Given the description of an element on the screen output the (x, y) to click on. 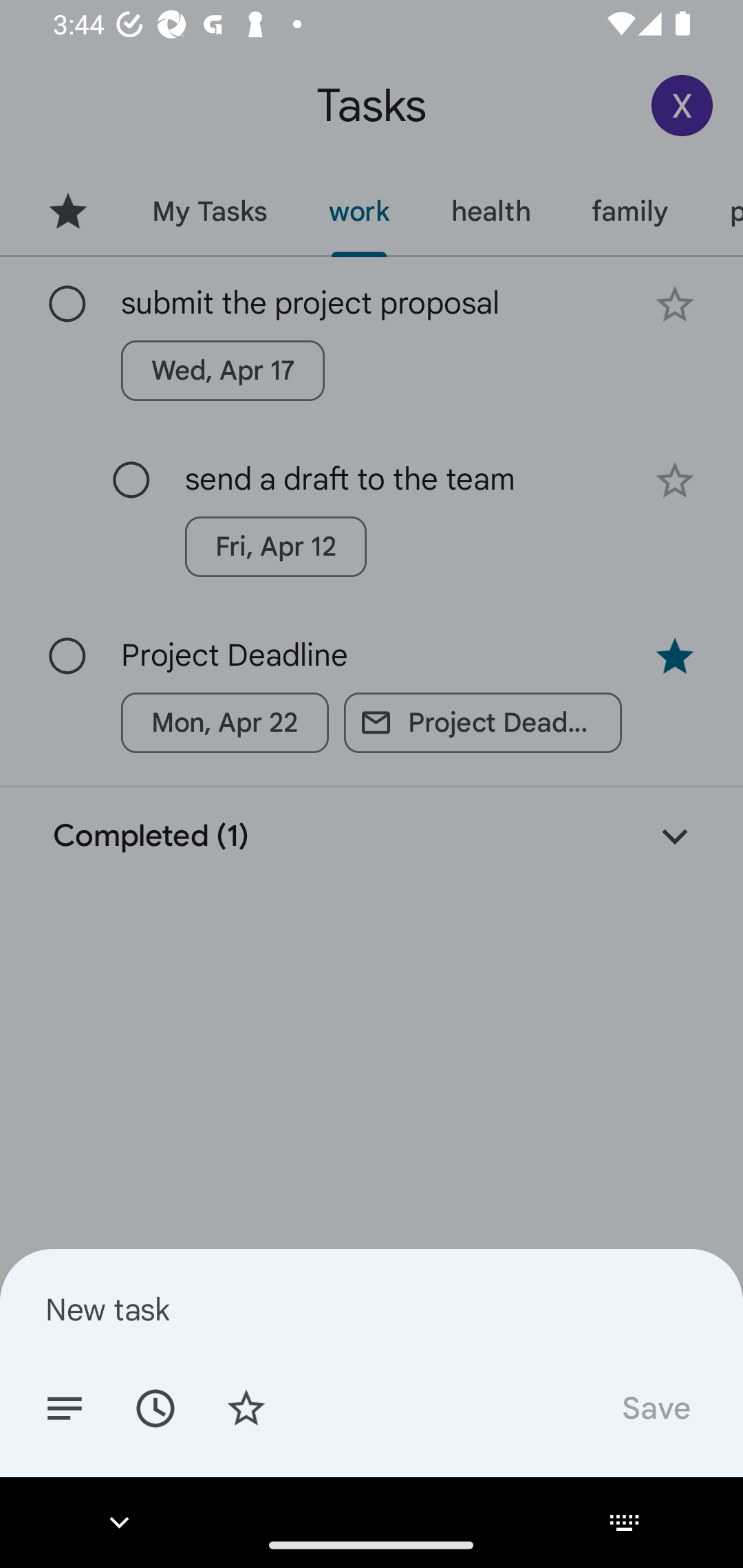
New task (371, 1308)
Save (655, 1407)
Add details (64, 1407)
Set date/time (154, 1407)
Add star (245, 1407)
